Given the description of an element on the screen output the (x, y) to click on. 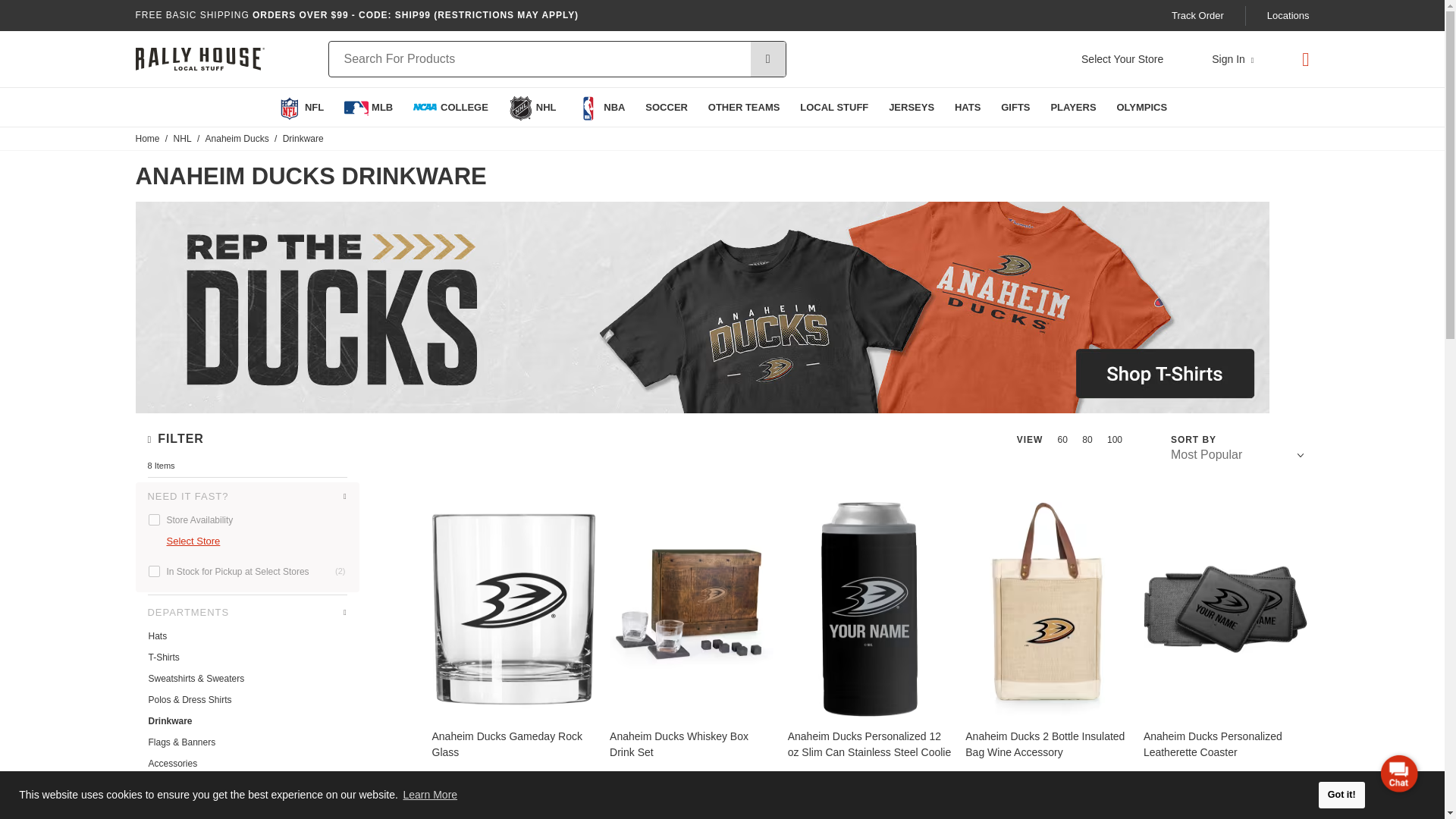
NFL (299, 106)
Got it! (1342, 795)
Sign In (1232, 59)
Rally House (199, 59)
Track Order (1198, 15)
Select Your Store (1122, 59)
Locations (1287, 15)
Show 100 per page (1113, 439)
Learn More (430, 794)
